Given the description of an element on the screen output the (x, y) to click on. 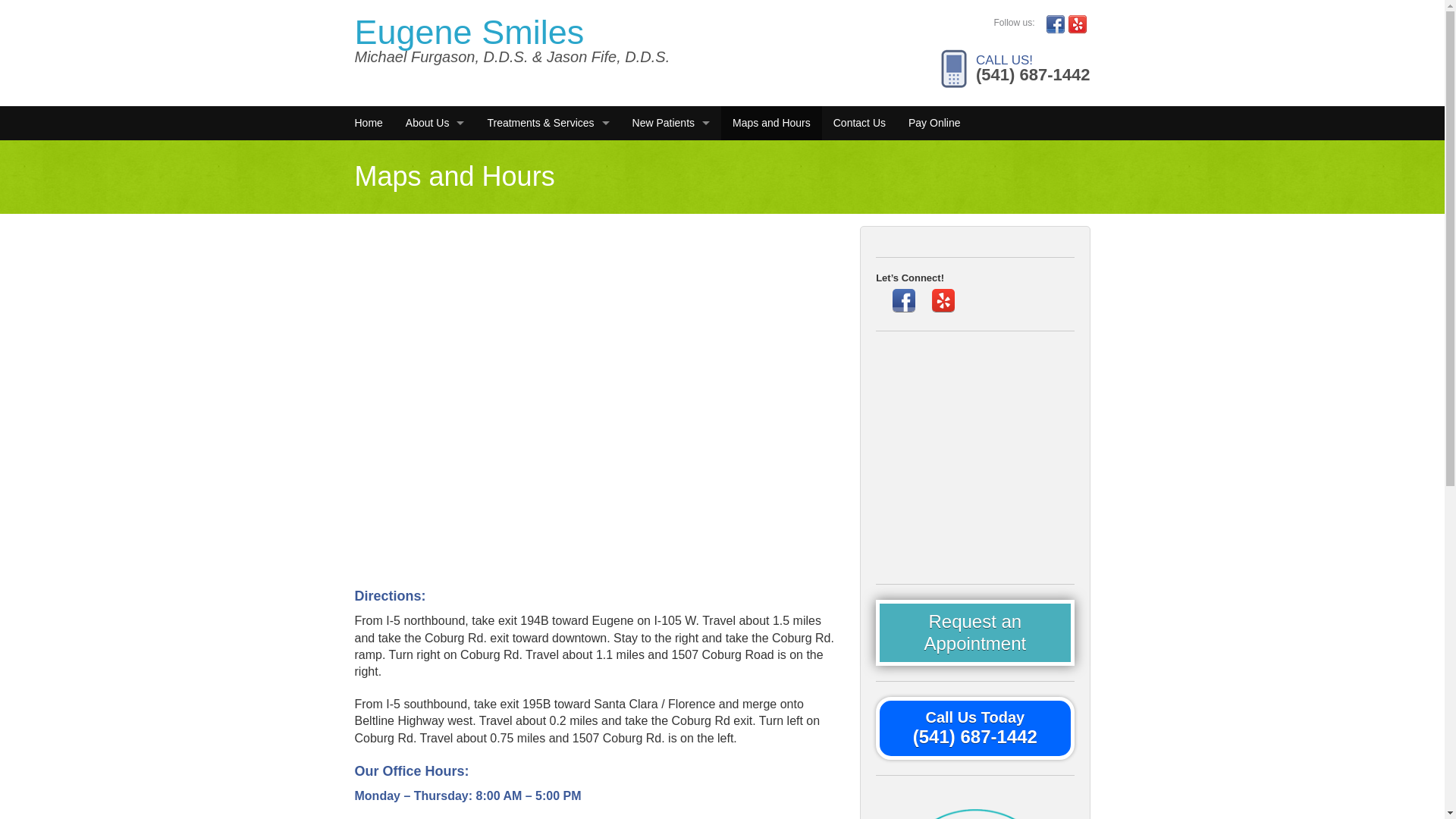
Maps and Hours (771, 123)
Eugene Smiles (470, 32)
Request an Appointment (975, 632)
New Patients (670, 123)
Contact Us (859, 123)
Home (367, 123)
Pay Online (933, 123)
Yelp (943, 300)
About Us (435, 123)
Yelp (1076, 24)
